Given the description of an element on the screen output the (x, y) to click on. 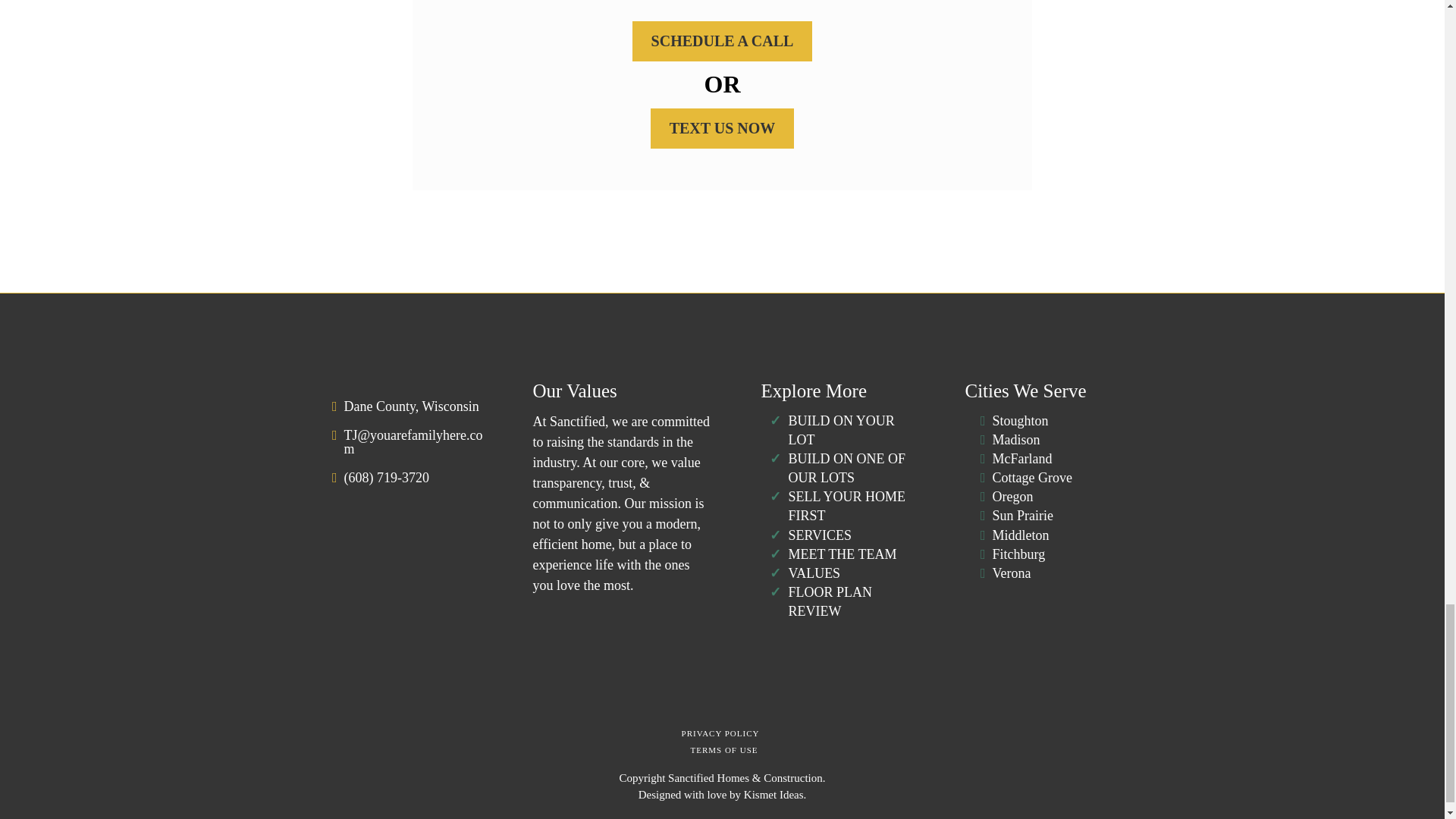
TEXT US NOW (722, 128)
SCHEDULE A CALL (721, 41)
